Given the description of an element on the screen output the (x, y) to click on. 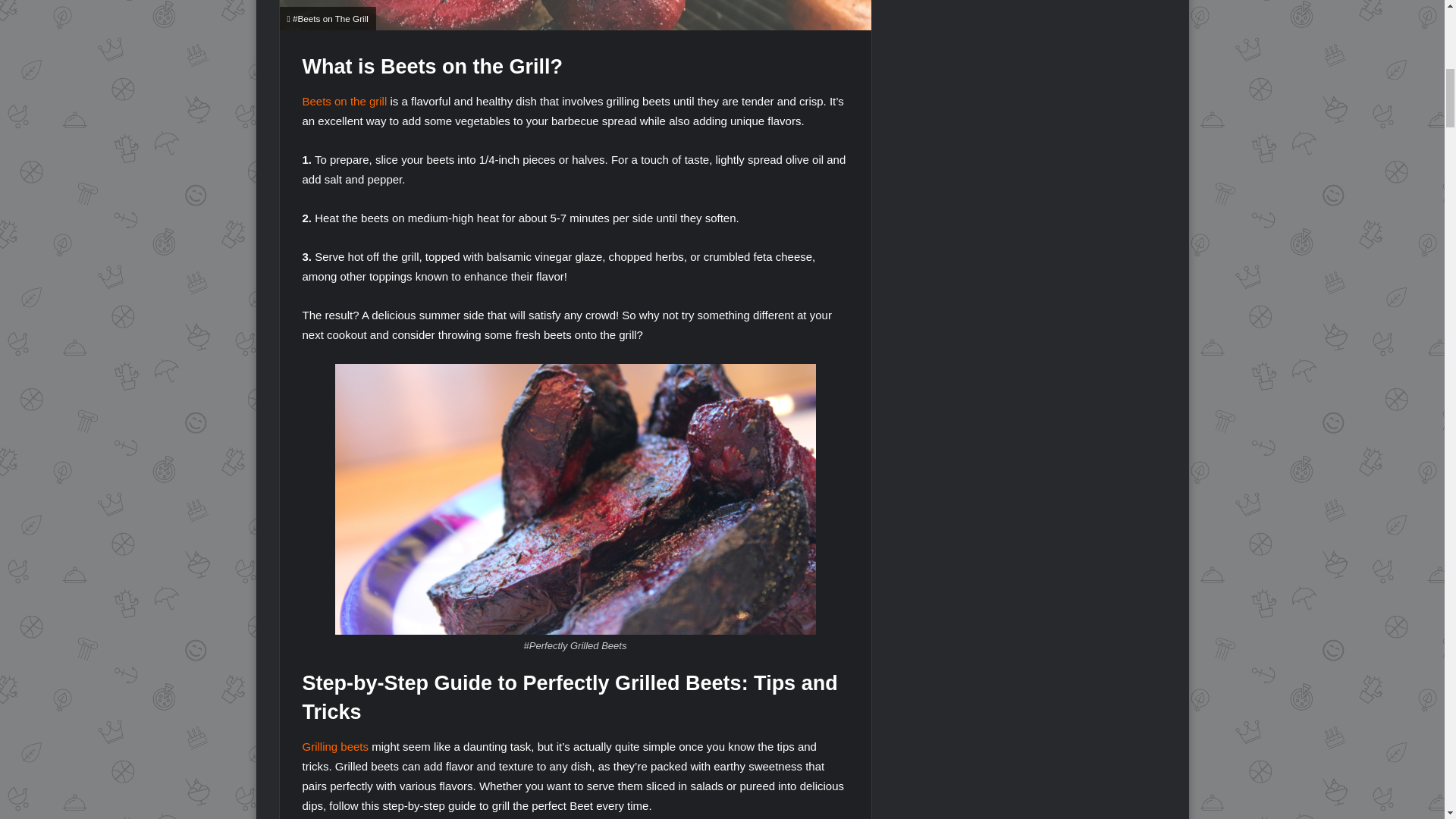
Grilling beets (334, 746)
Beets on the grill (344, 101)
